Given the description of an element on the screen output the (x, y) to click on. 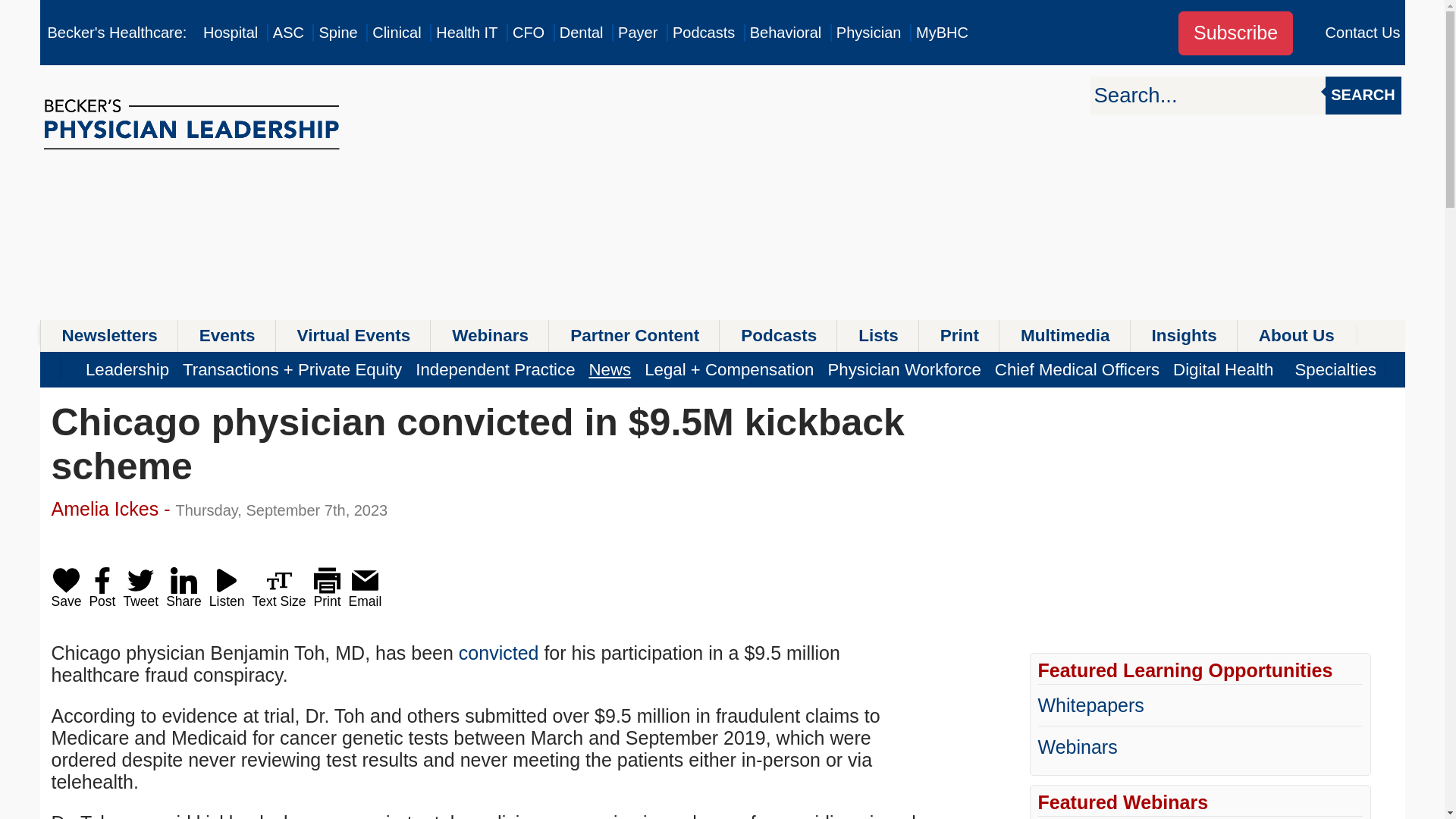
Physician (868, 32)
Becker's Hospital Review (230, 32)
SEARCH (1362, 95)
Spine (337, 32)
Podcasts (703, 32)
Becker's Clinical (396, 32)
Behavioral (785, 32)
Physician (868, 32)
Becker's Spine Review (337, 32)
Hospital (230, 32)
Becker's Health IT (466, 32)
Payer (637, 32)
Becker's Podcasts (703, 32)
Becker's Dental Review (581, 32)
MyBHC (941, 32)
